Given the description of an element on the screen output the (x, y) to click on. 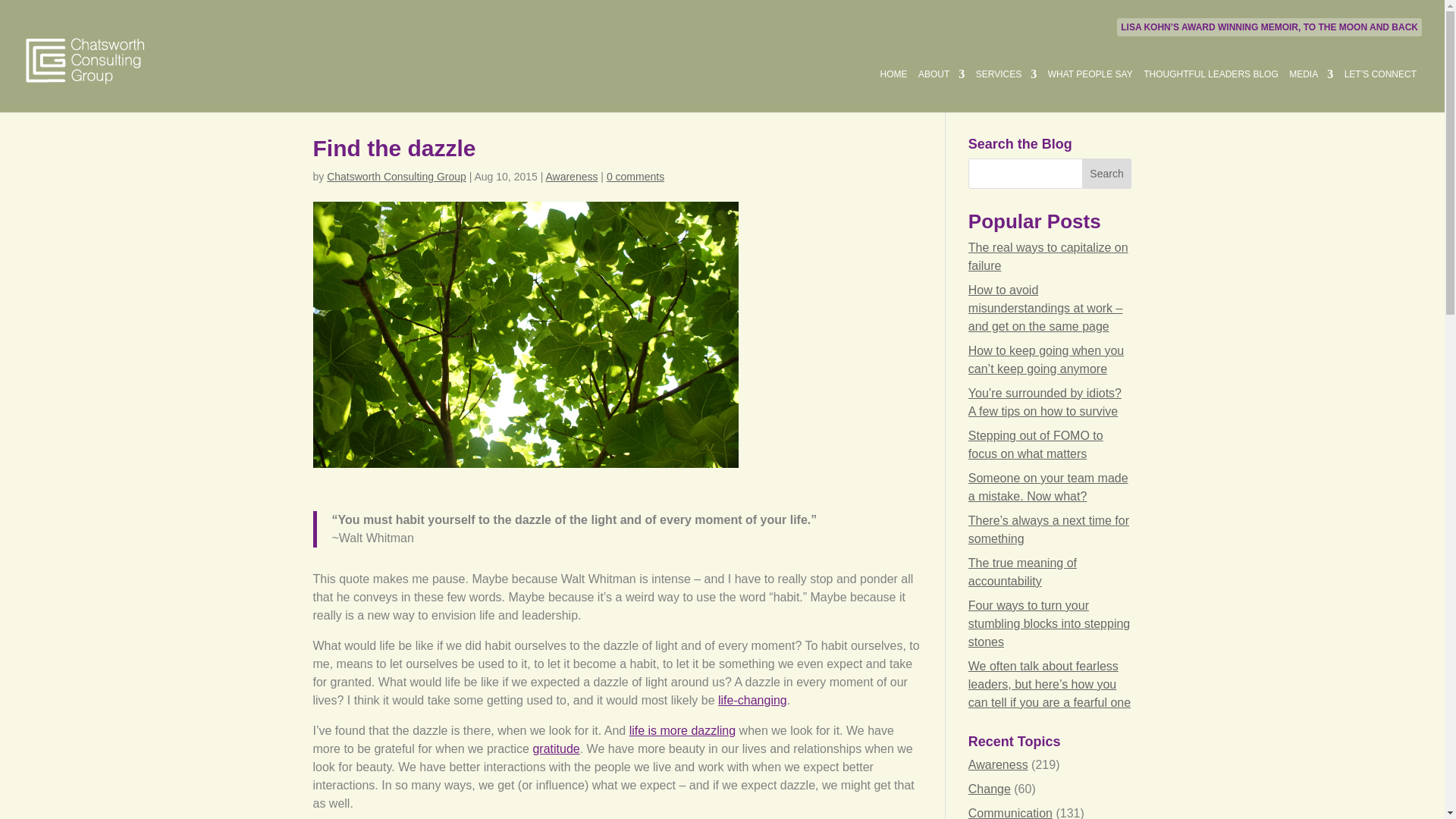
SERVICES (1005, 90)
Chatsworth Consulting Group (395, 176)
Posts by Chatsworth Consulting Group (395, 176)
Search (1106, 173)
MEDIA (1310, 90)
0 comments (635, 176)
Awareness (570, 176)
life-changing (752, 699)
WHAT PEOPLE SAY (1090, 90)
ABOUT (940, 90)
THOUGHTFUL LEADERS BLOG (1210, 90)
life is more dazzling (682, 730)
